Given the description of an element on the screen output the (x, y) to click on. 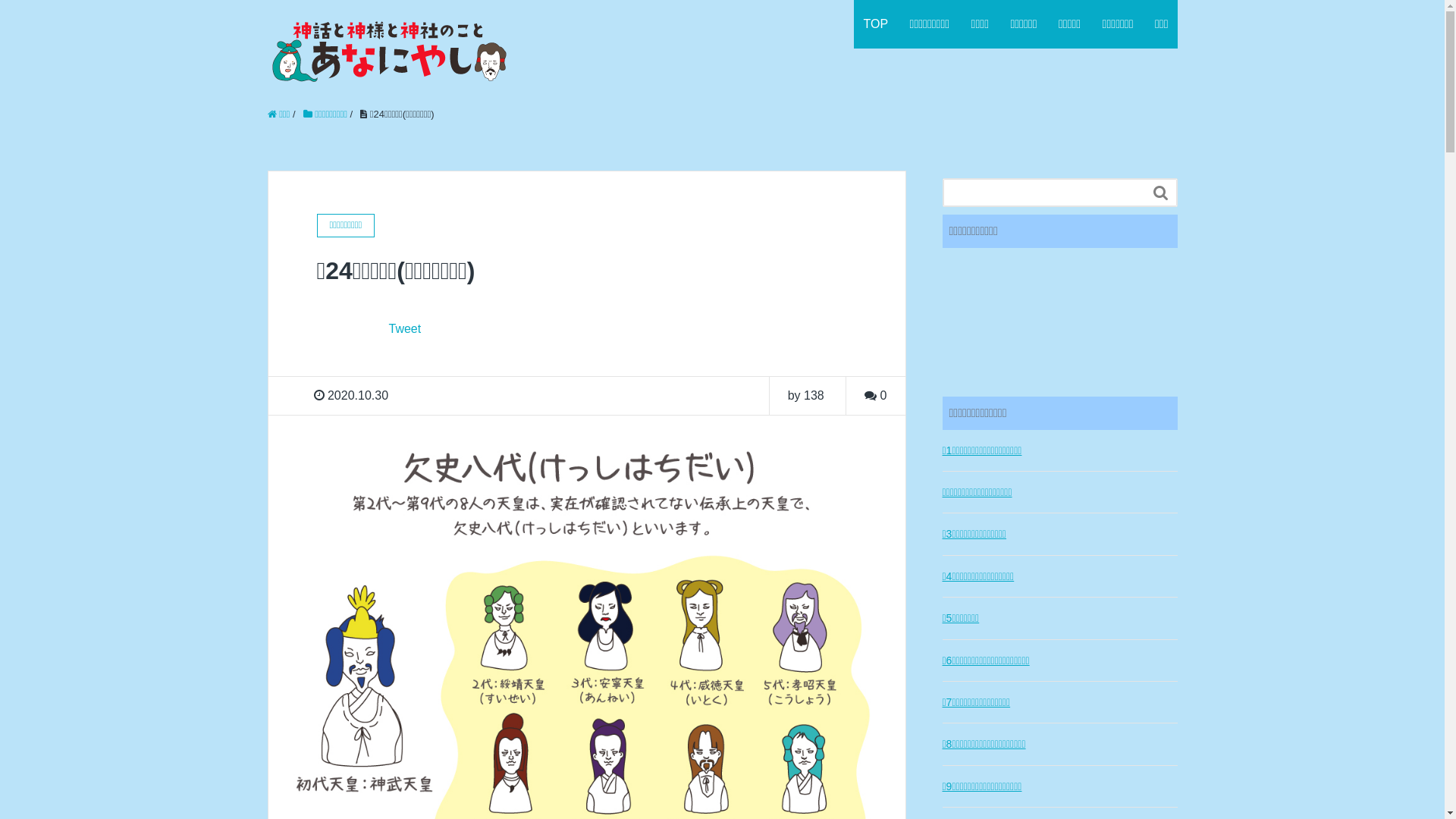
fw-iframe Element type: hover (1058, 319)
TOP Element type: text (875, 24)
Tweet Element type: text (404, 328)
